Given the description of an element on the screen output the (x, y) to click on. 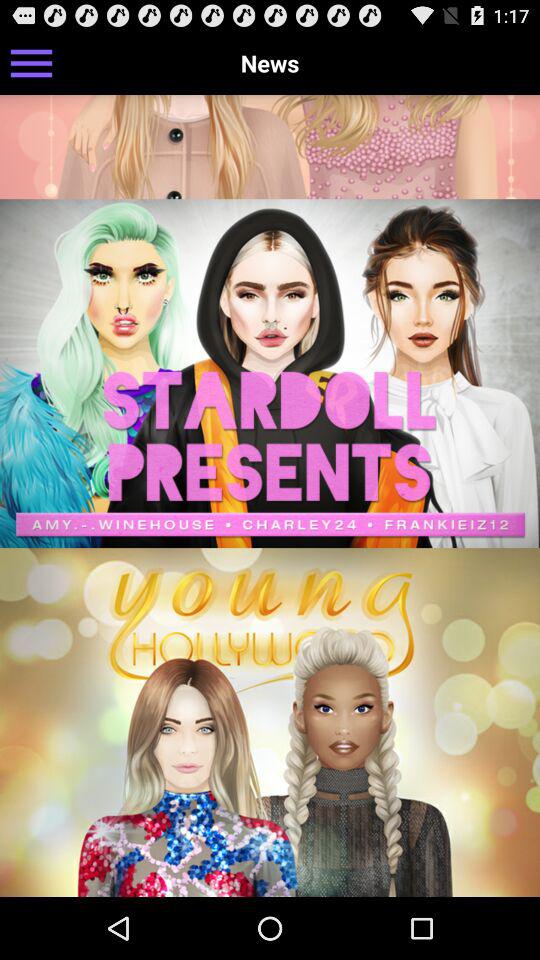
choose the icon at the top left corner (31, 62)
